Given the description of an element on the screen output the (x, y) to click on. 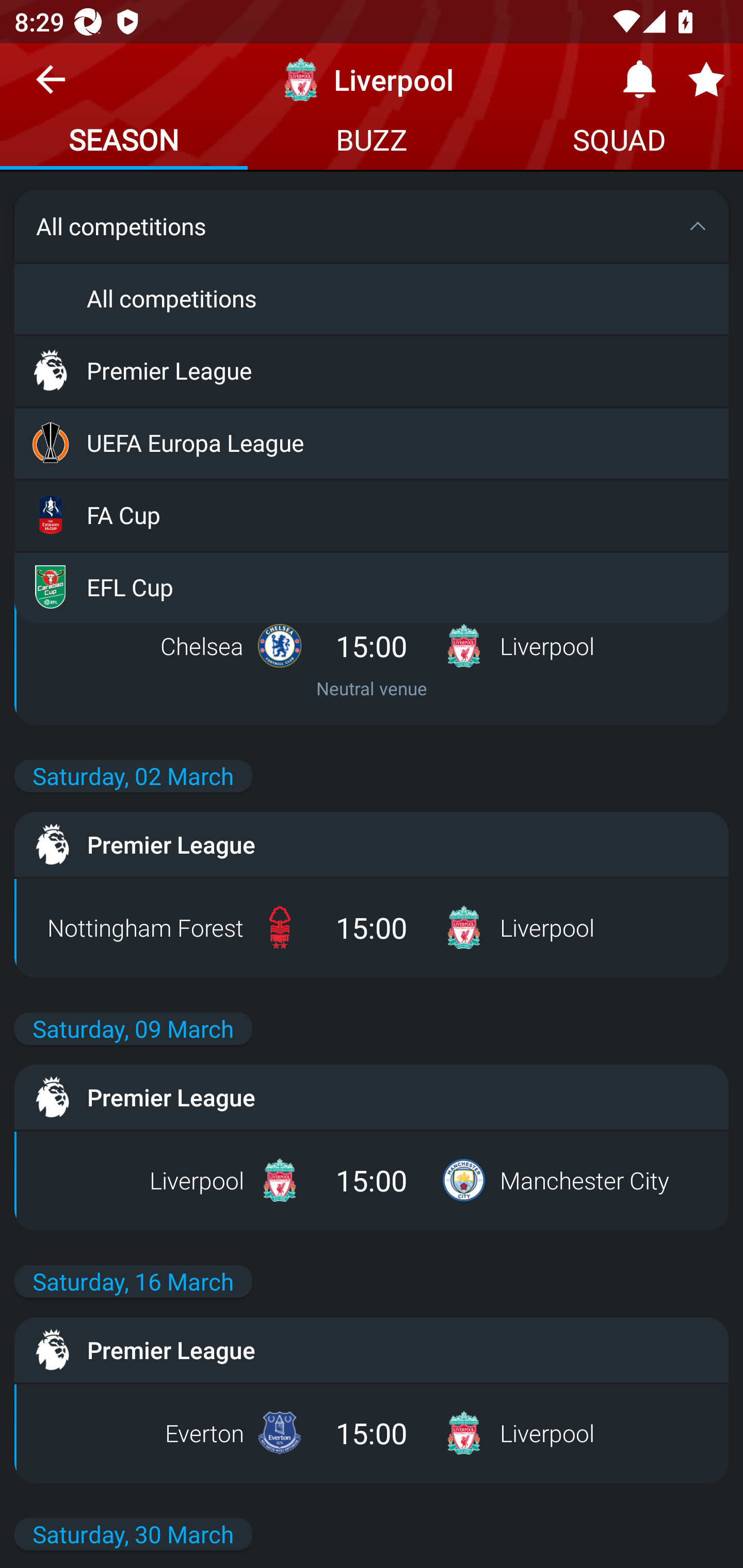
All competitions (371, 297)
Premier League (371, 369)
UEFA Europa League (371, 442)
FA Cup (371, 514)
EFL Cup (371, 586)
